Given the description of an element on the screen output the (x, y) to click on. 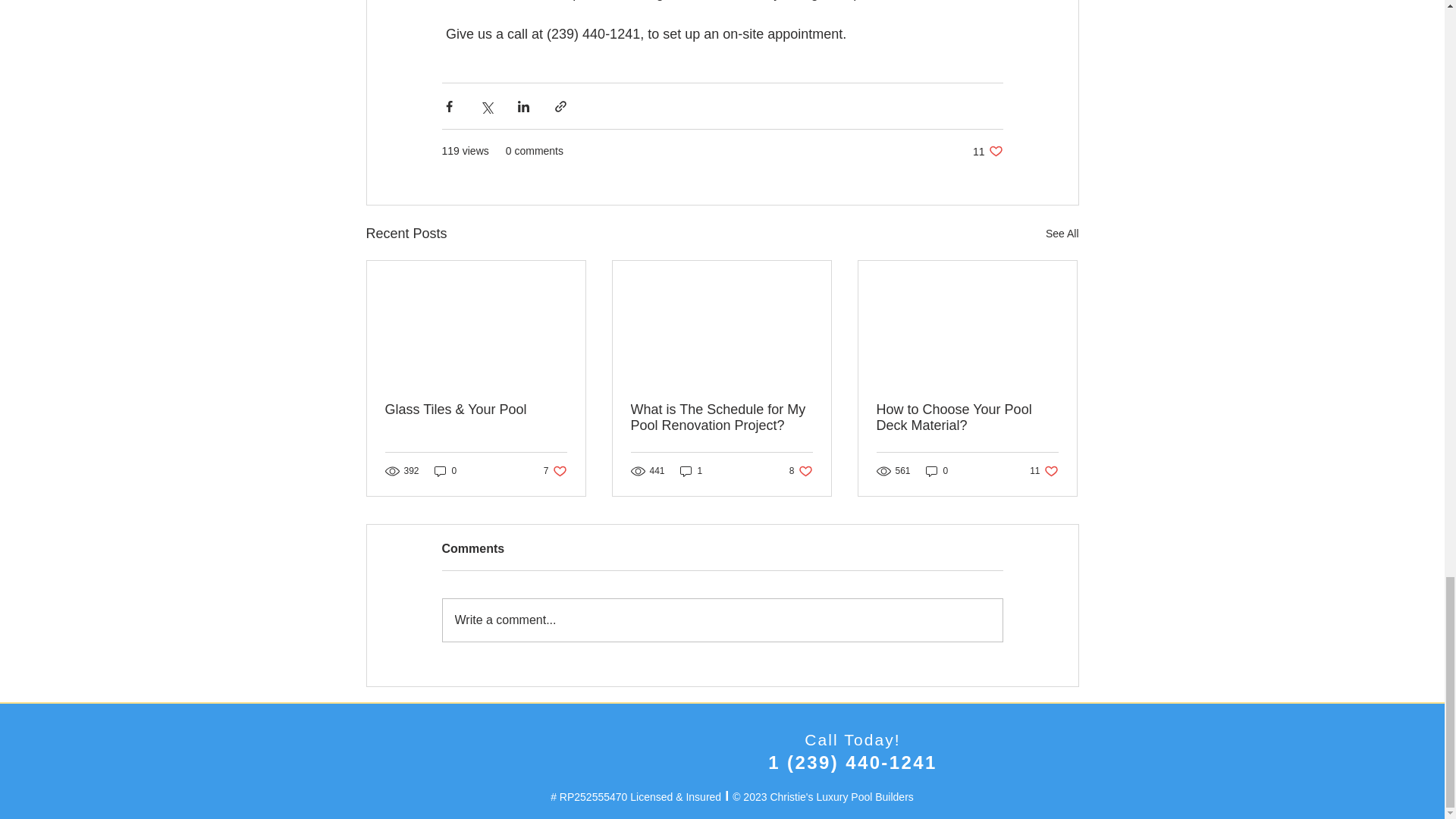
1 (1043, 471)
0 (987, 151)
How to Choose Your Pool Deck Material? (691, 471)
See All (445, 471)
What is The Schedule for My Pool Renovation Project? (967, 418)
Write a comment... (800, 471)
0 (555, 471)
